Given the description of an element on the screen output the (x, y) to click on. 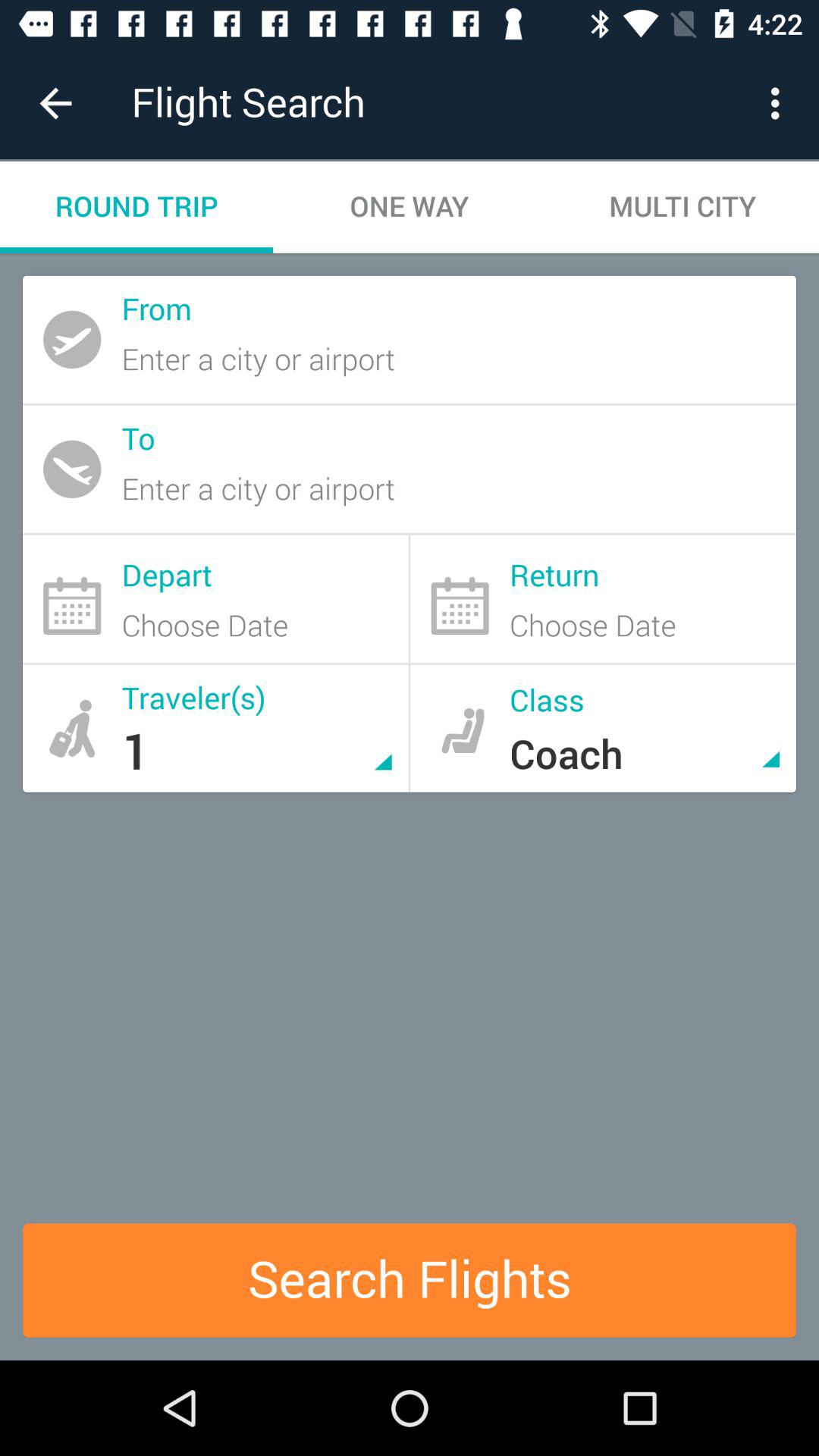
choose icon to the left of multi city (409, 207)
